Given the description of an element on the screen output the (x, y) to click on. 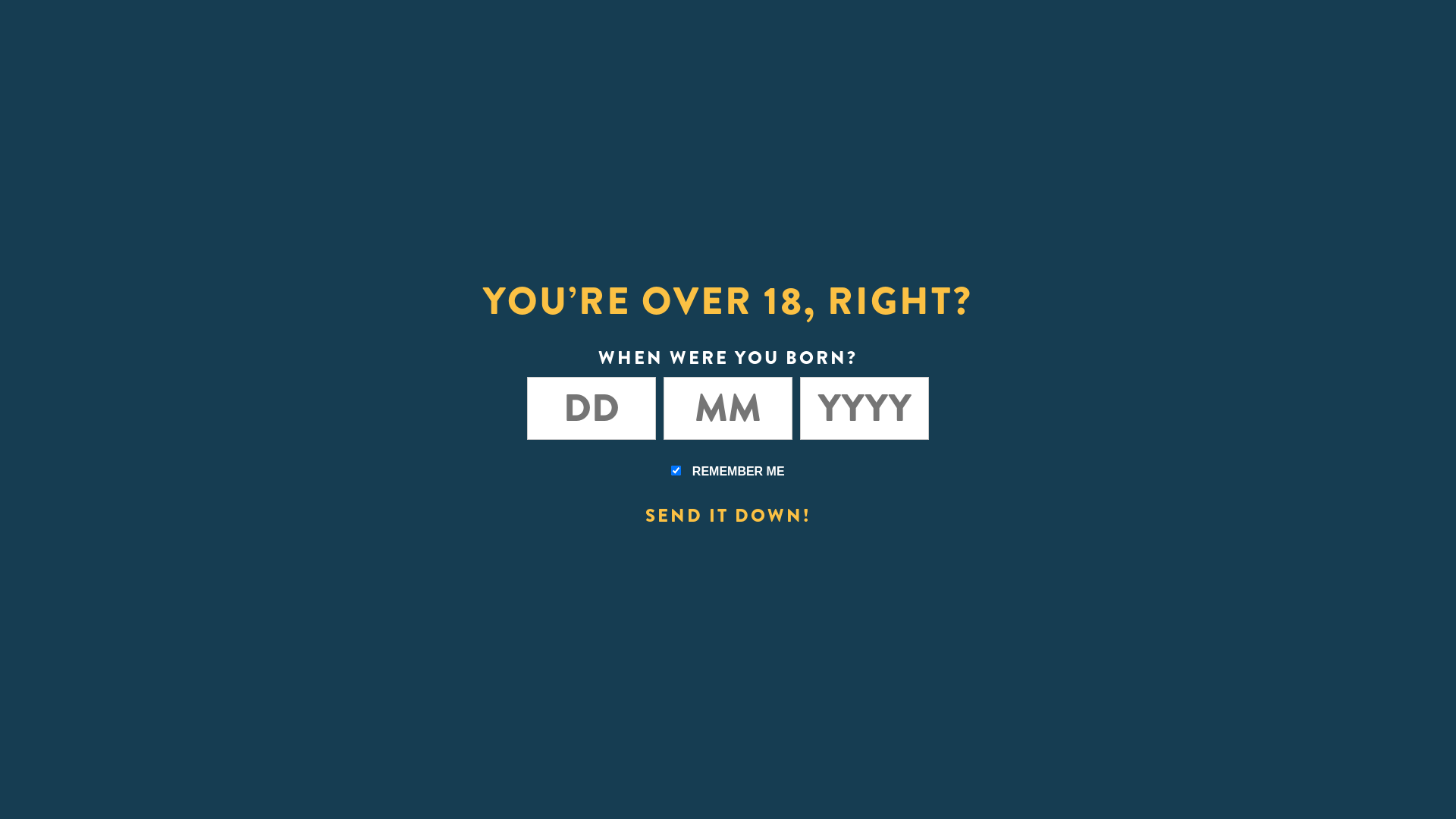
Send it down! Element type: text (727, 513)
